Given the description of an element on the screen output the (x, y) to click on. 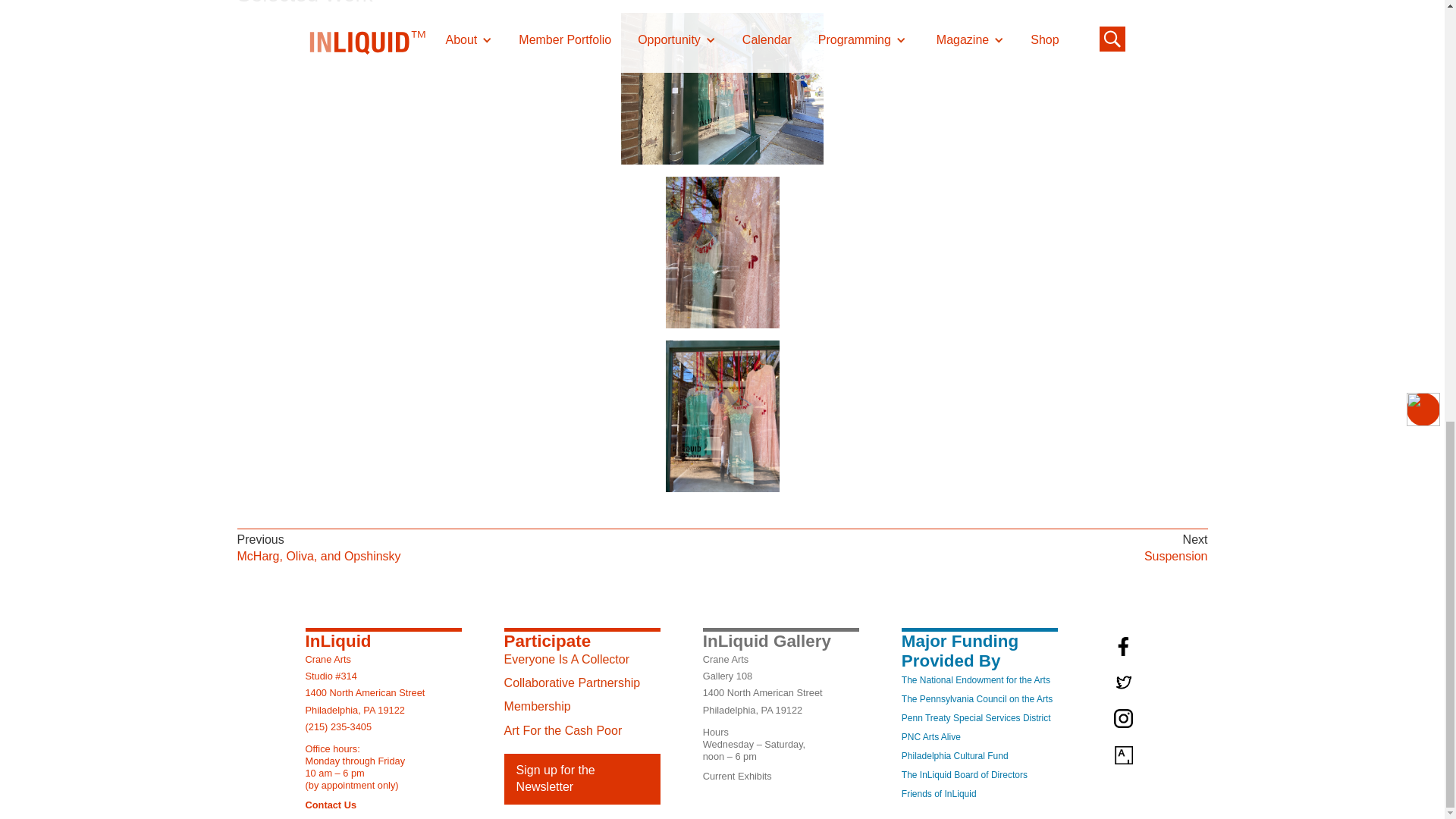
McHarg, Oliva, and Opshinsky (317, 556)
Suspension (1176, 556)
